Given the description of an element on the screen output the (x, y) to click on. 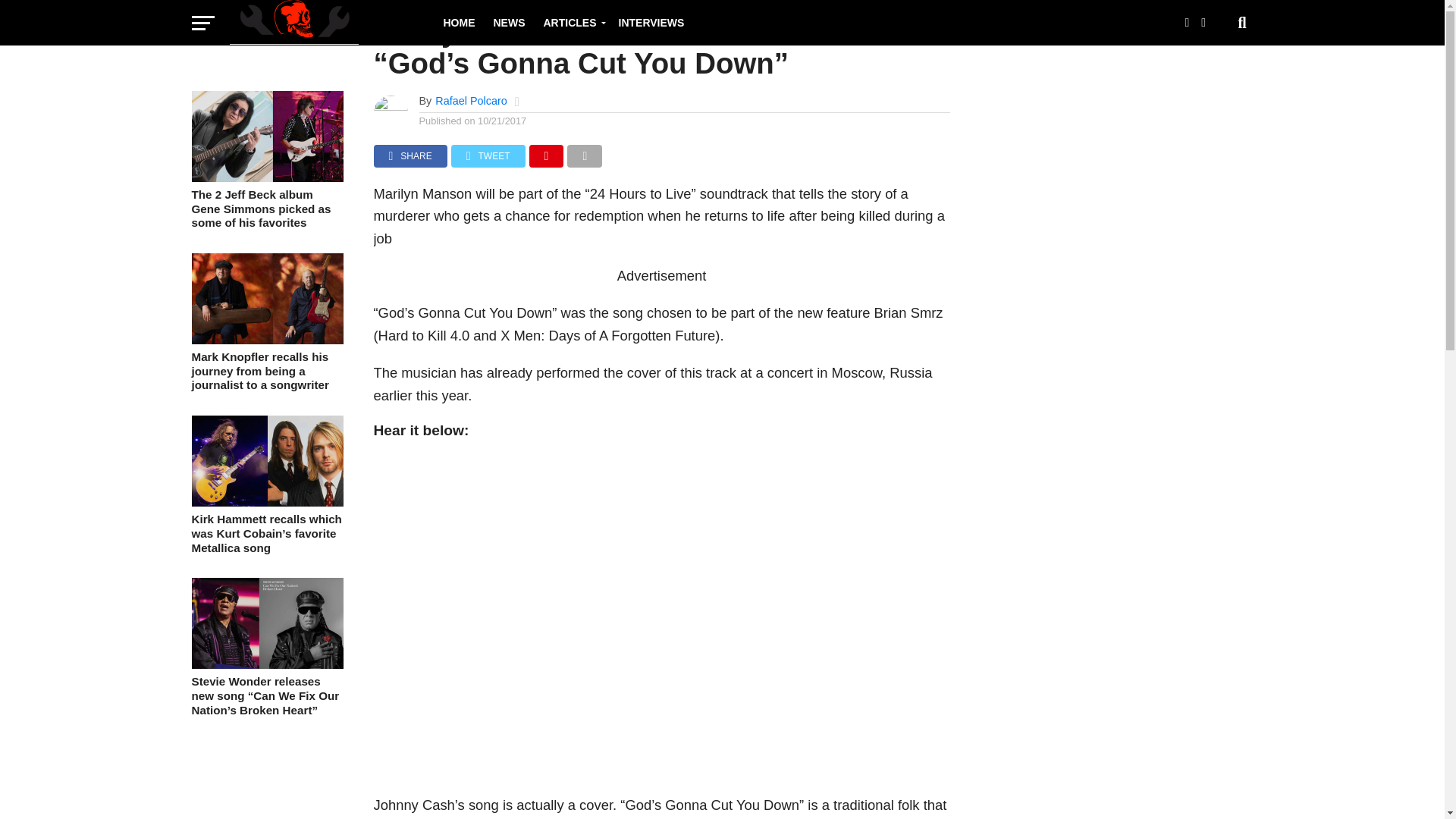
INTERVIEWS (652, 22)
ARTICLES (571, 22)
NEWS (508, 22)
Posts by Rafael Polcaro (470, 101)
HOME (458, 22)
